Given the description of an element on the screen output the (x, y) to click on. 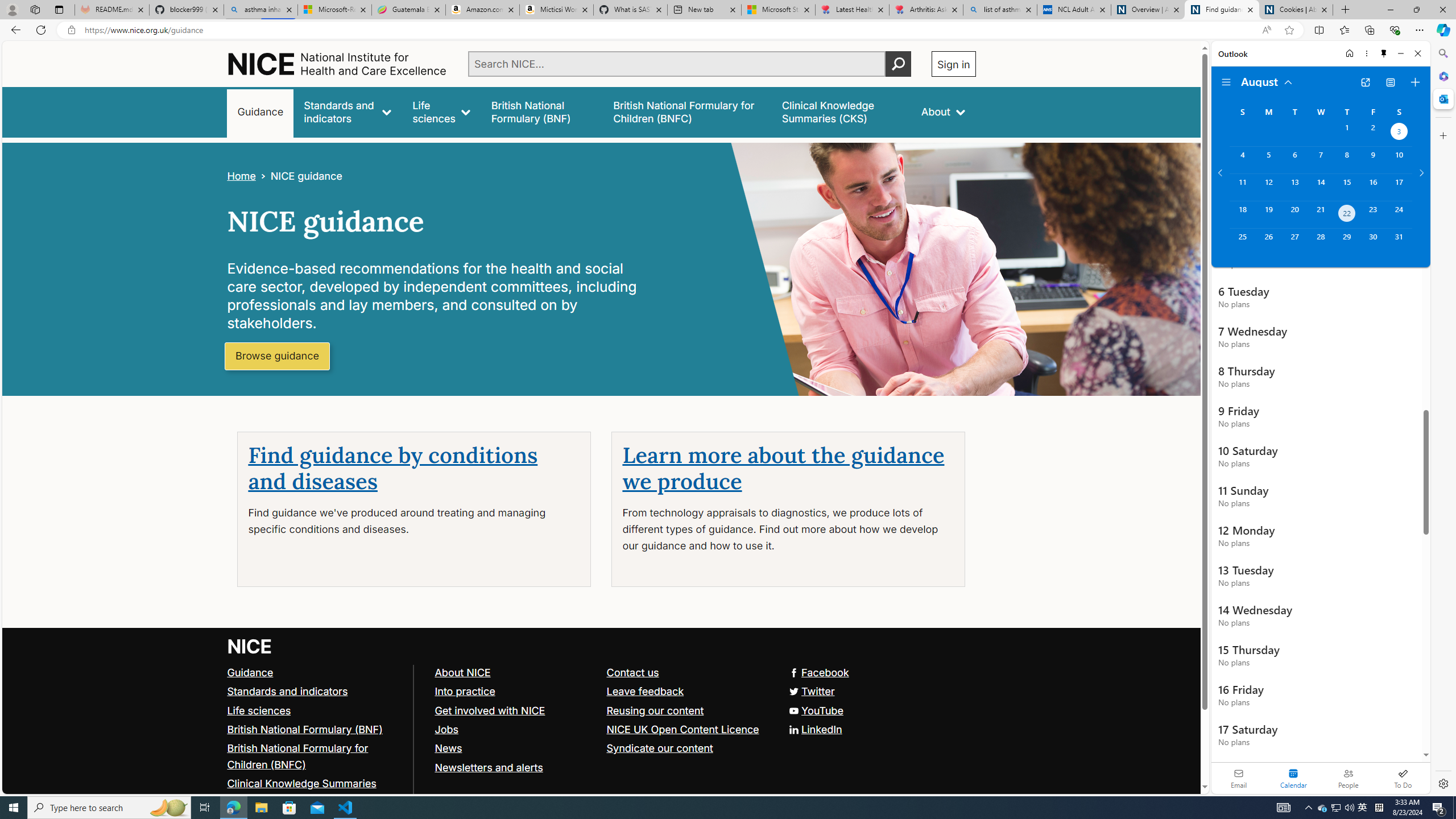
Monday, August 12, 2024.  (1268, 186)
Open in new tab (1365, 82)
Friday, August 9, 2024.  (1372, 159)
Perform search (898, 63)
Saturday, August 3, 2024. Date selected.  (1399, 132)
Get involved with NICE (489, 710)
Newsletters and alerts (514, 767)
Twitter (810, 690)
